Given the description of an element on the screen output the (x, y) to click on. 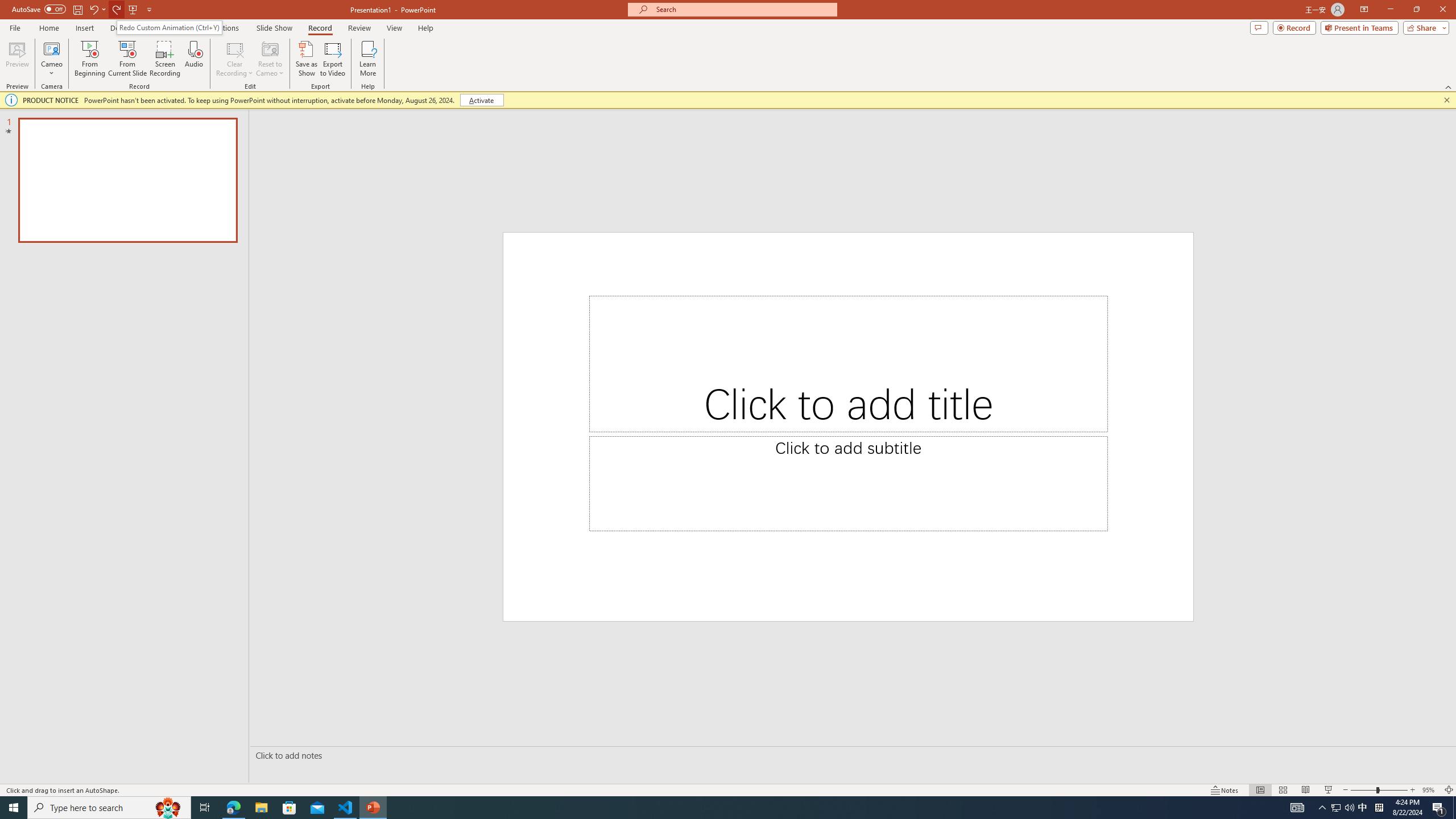
From Beginning... (89, 58)
Reset to Cameo (269, 58)
Activate (481, 100)
Export to Video (332, 58)
